Given the description of an element on the screen output the (x, y) to click on. 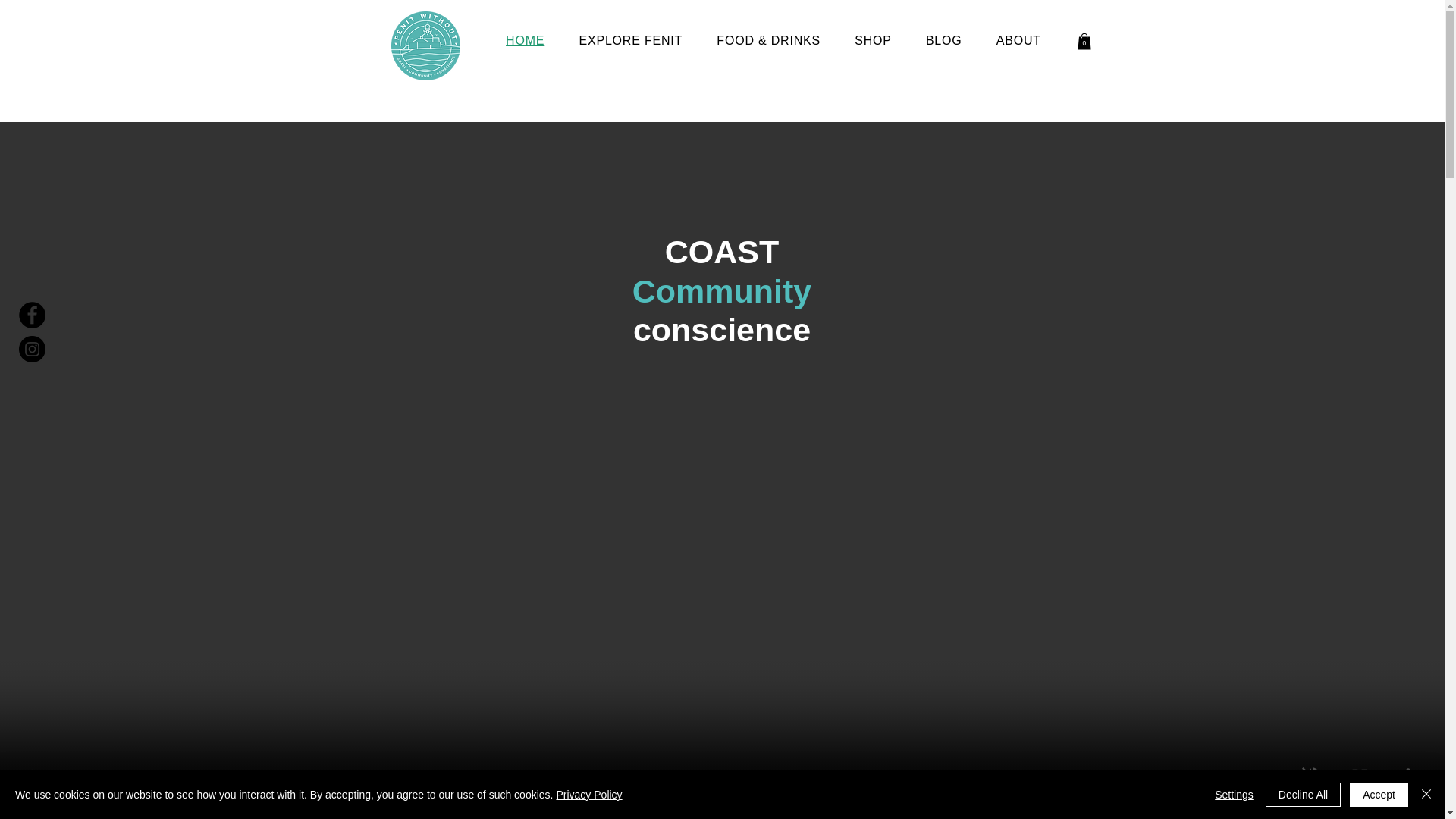
BLOG (943, 40)
HOME (524, 40)
